Given the description of an element on the screen output the (x, y) to click on. 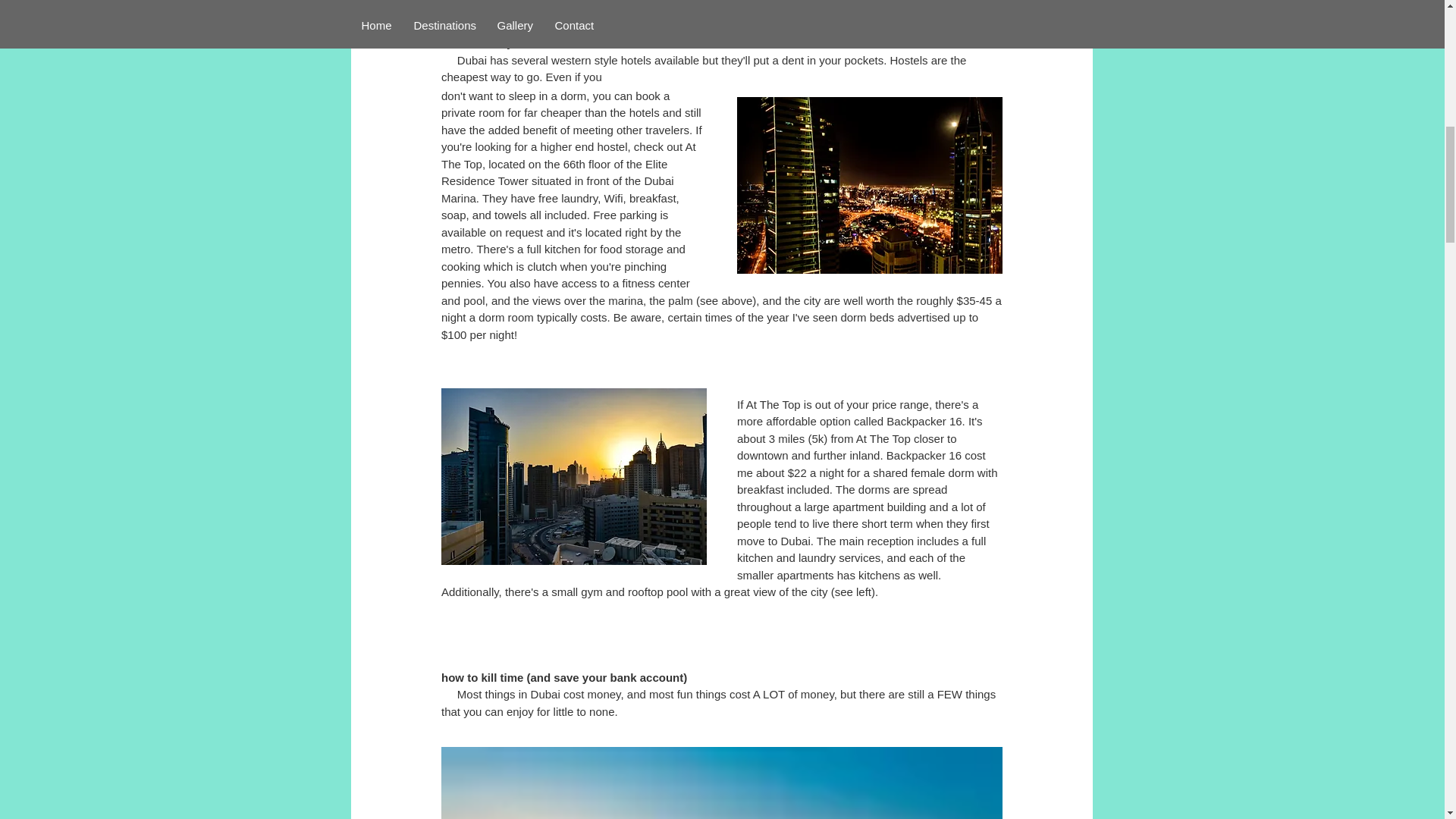
Essential Prep Guide: Dubai (721, 7)
